Given the description of an element on the screen output the (x, y) to click on. 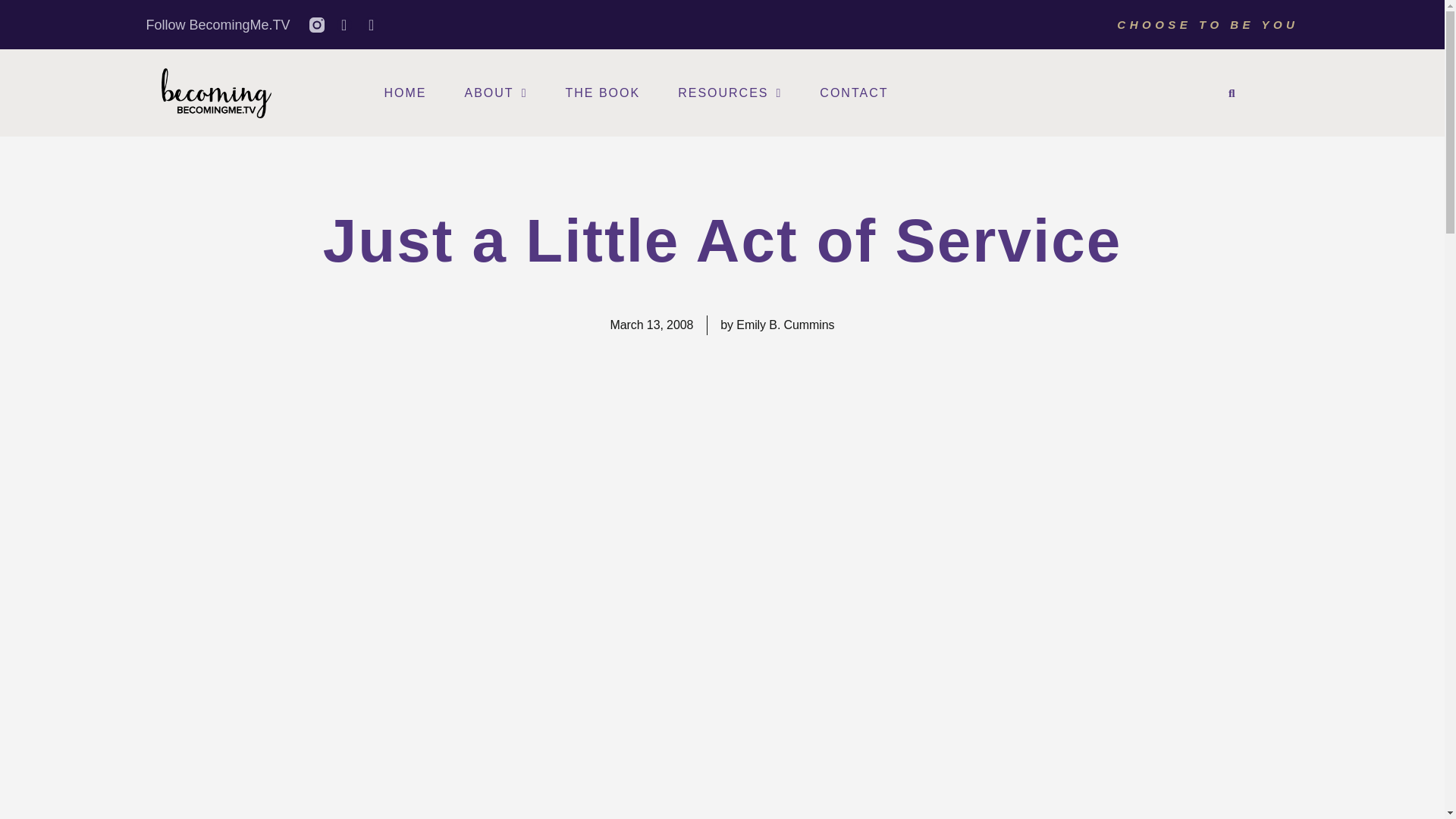
ABOUT (495, 93)
CONTACT (853, 93)
RESOURCES (729, 93)
THE BOOK (602, 93)
HOME (405, 93)
